Given the description of an element on the screen output the (x, y) to click on. 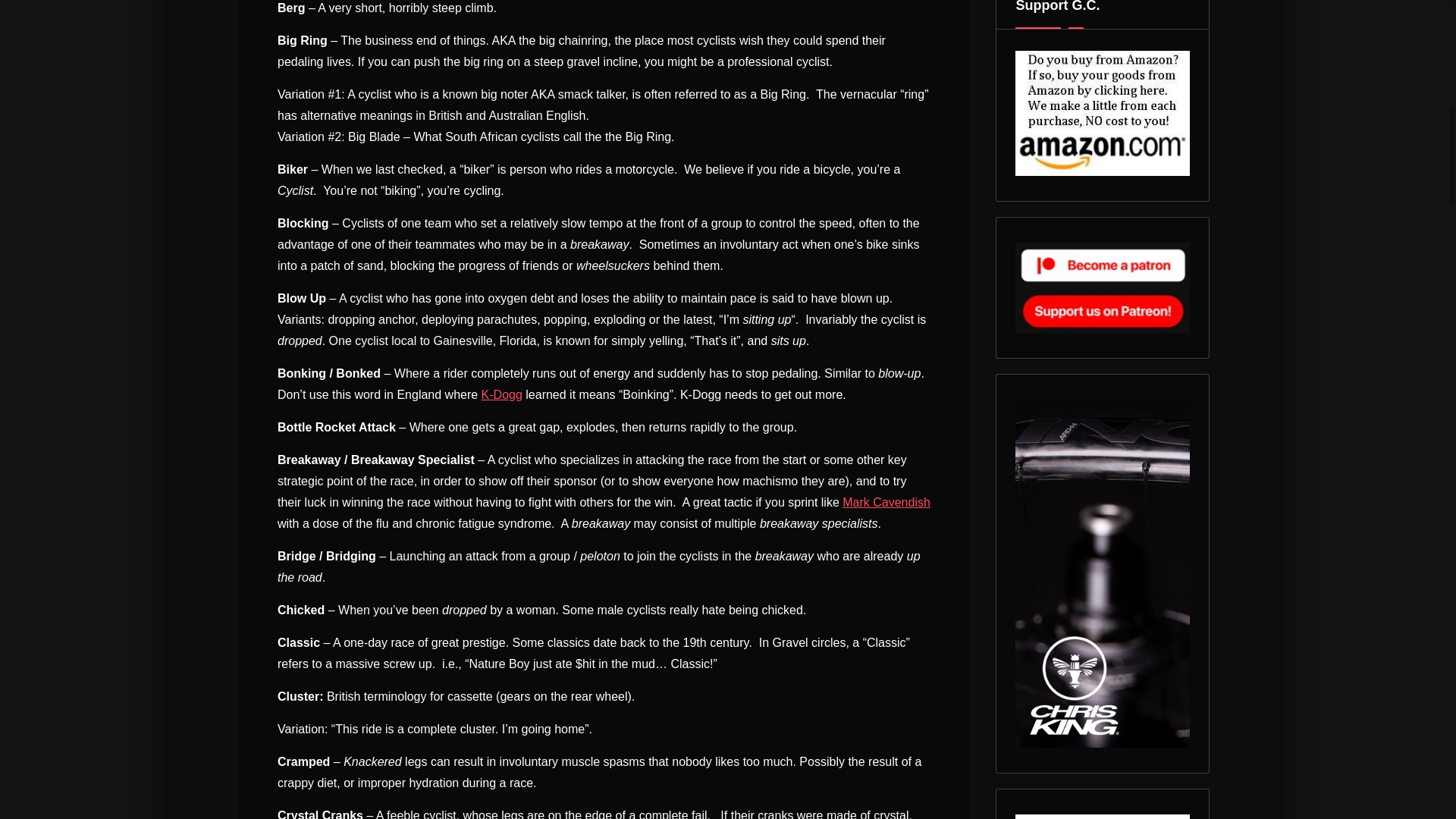
K-Dogg (501, 394)
Mark Cavendish (886, 502)
Cast Members (501, 394)
